Given the description of an element on the screen output the (x, y) to click on. 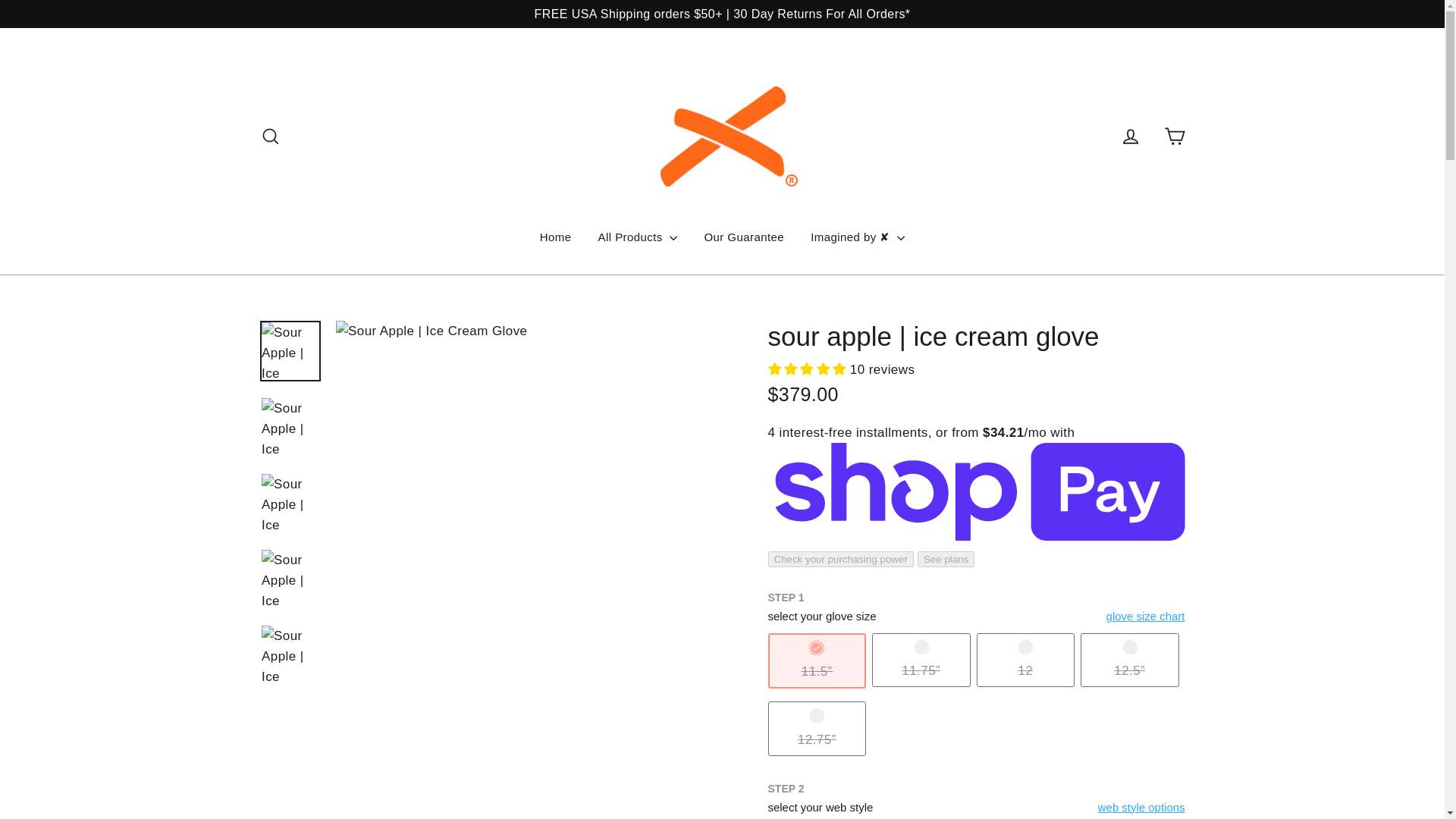
Log in (1130, 135)
Search (269, 135)
Cart (1173, 135)
All Products (637, 236)
Home (555, 236)
